Given the description of an element on the screen output the (x, y) to click on. 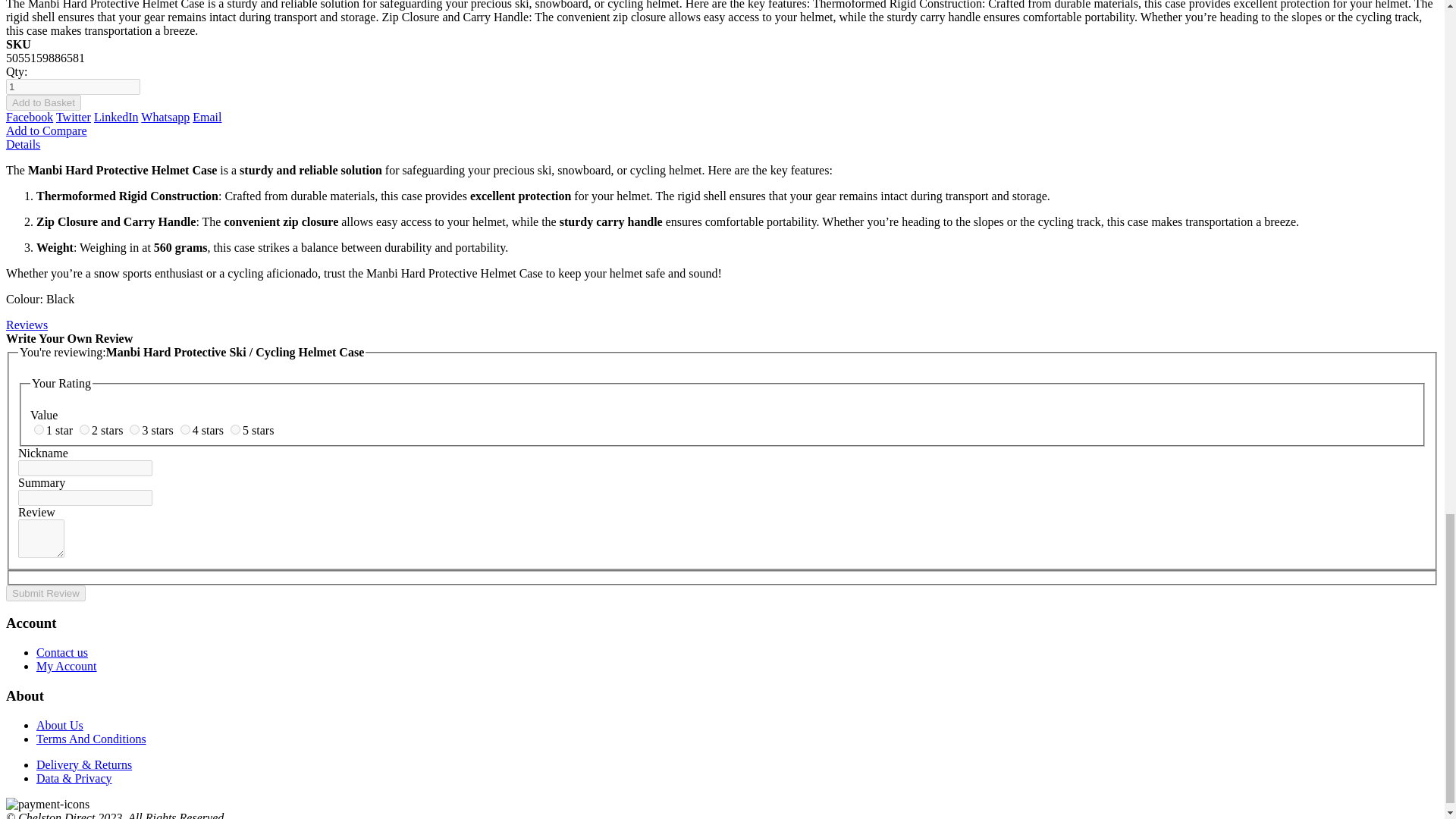
1 (72, 86)
10 (235, 429)
7 (84, 429)
6 (38, 429)
8 (134, 429)
9 (185, 429)
